Given the description of an element on the screen output the (x, y) to click on. 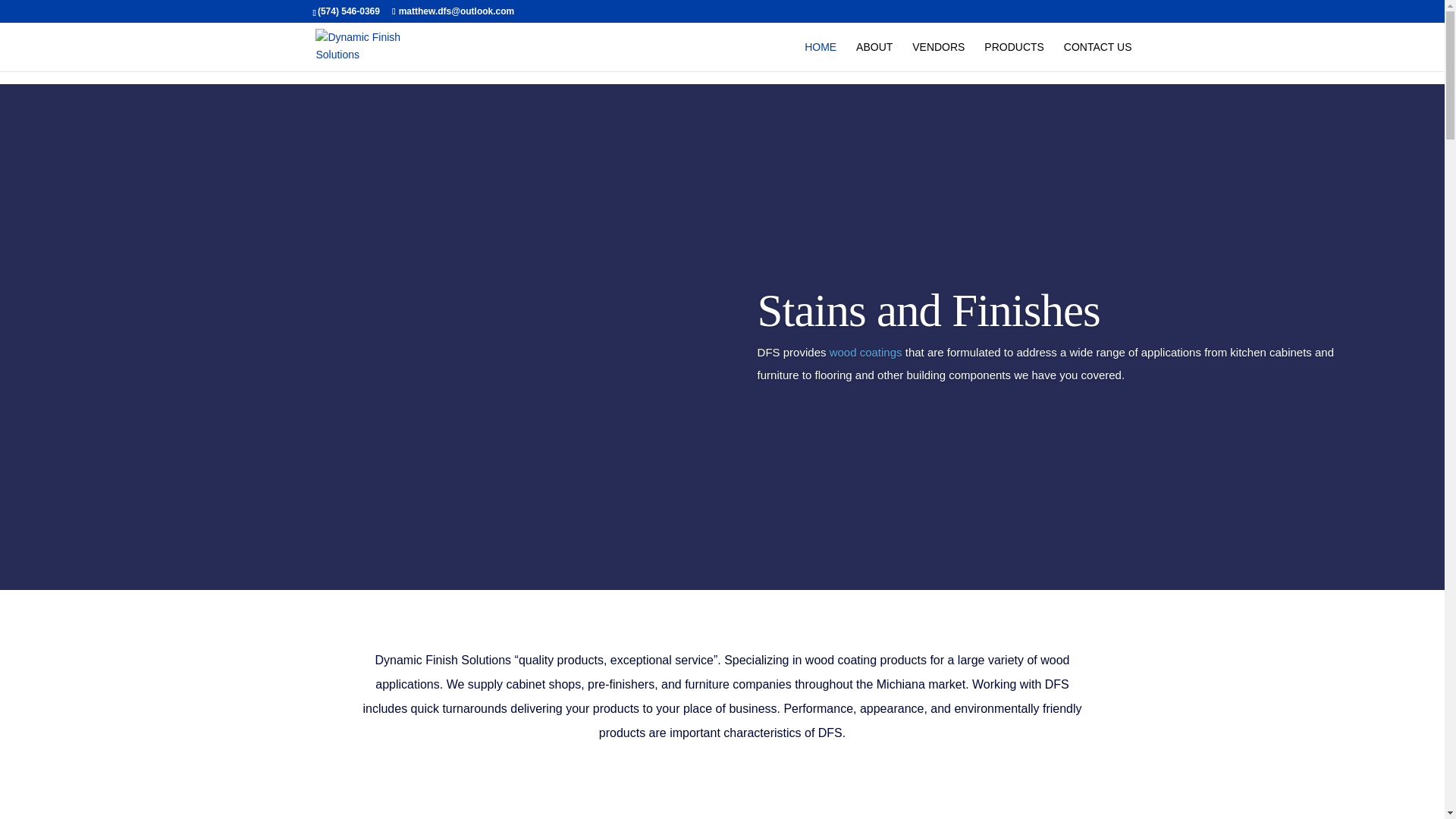
HOME (820, 56)
CONTACT US (1098, 56)
ABOUT (874, 56)
PRODUCTS (1013, 56)
VENDORS (937, 56)
